Given the description of an element on the screen output the (x, y) to click on. 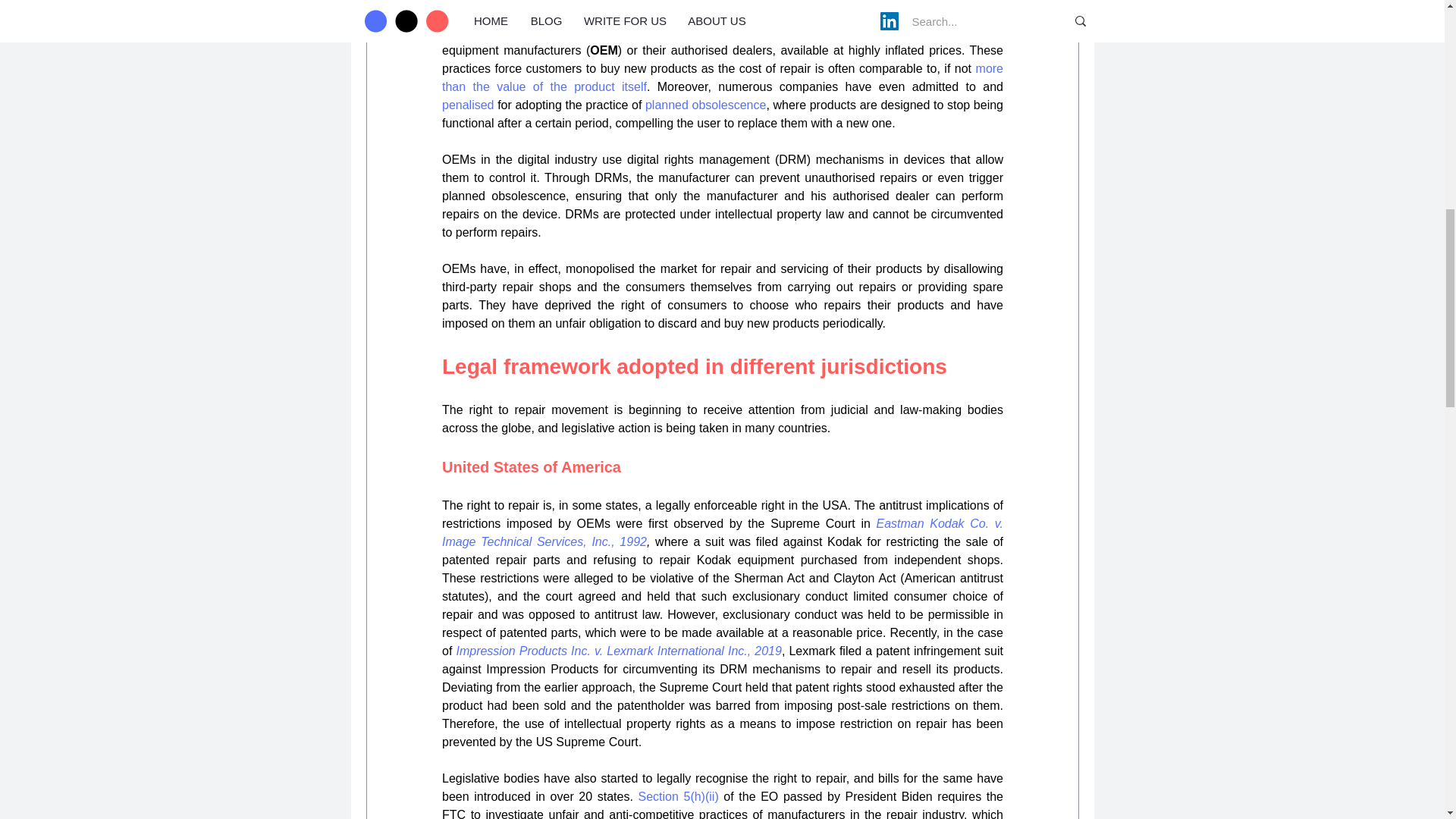
Eastman Kodak Co. v. Image Technical Services, Inc., 1992 (723, 531)
planned obsolescence (705, 104)
Impression Products Inc. v. Lexmark International Inc., 2019 (617, 650)
more than the value of the product itself (723, 77)
penalised (467, 104)
